Given the description of an element on the screen output the (x, y) to click on. 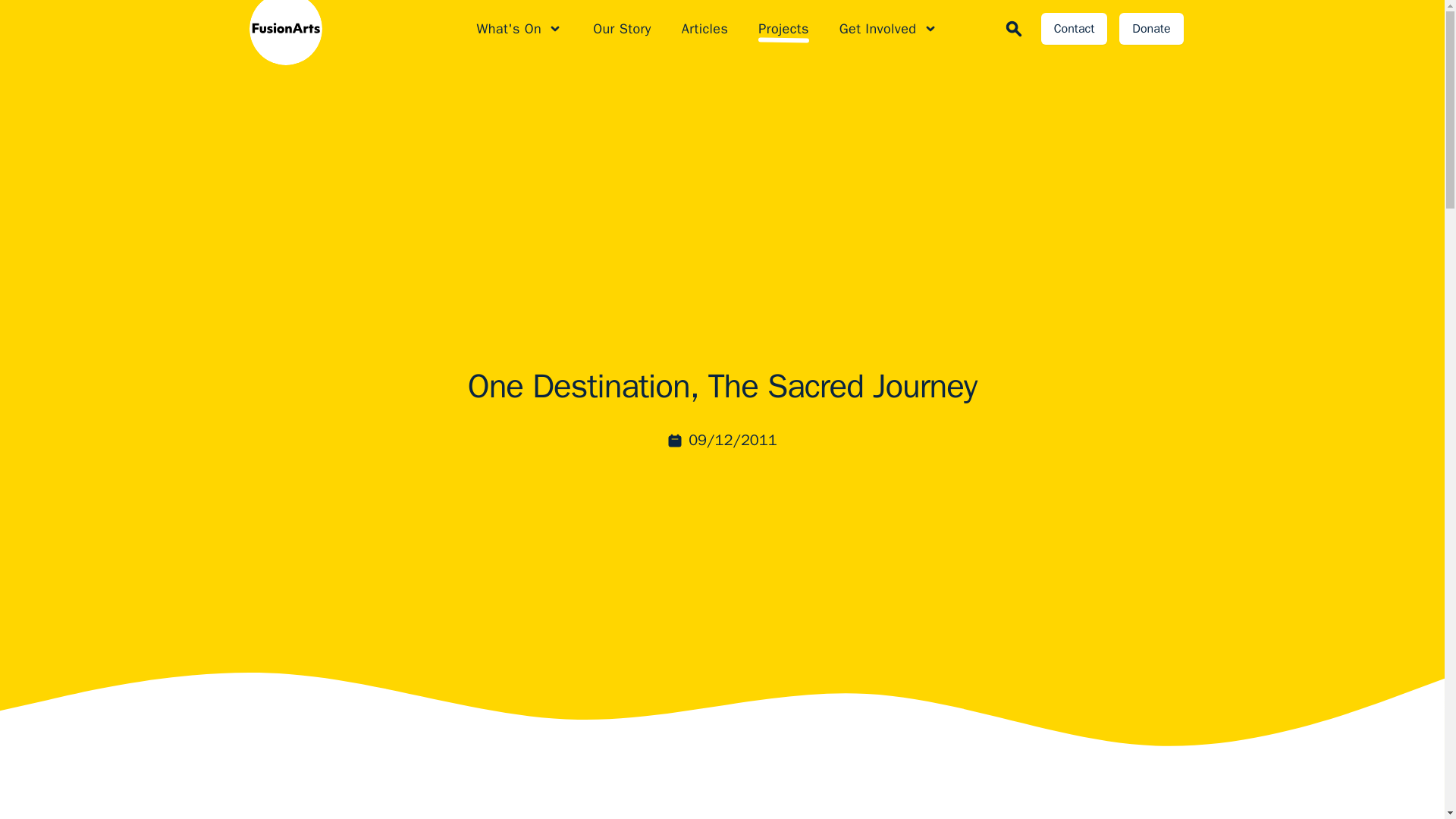
Articles (704, 28)
Projects (783, 28)
search (1013, 28)
Get Involved (888, 28)
Contact (1074, 29)
Donate (1150, 29)
Our Story (621, 28)
Fusion Arts (269, 28)
What's On (519, 28)
